Given the description of an element on the screen output the (x, y) to click on. 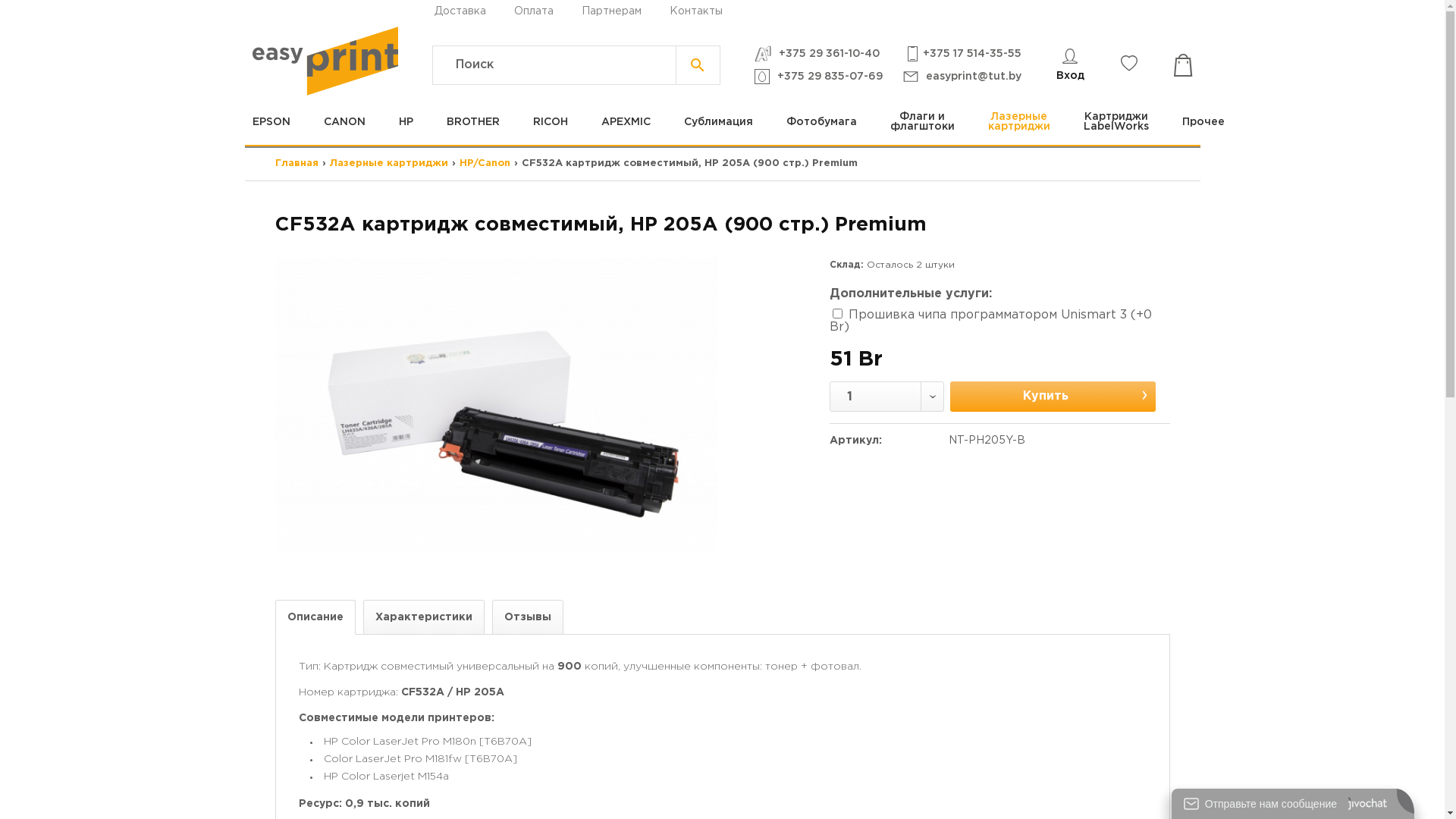
+375 17 514-35-55 Element type: text (963, 53)
CANON Element type: text (343, 121)
EPSON Element type: text (278, 121)
+375 29 361-10-40 Element type: text (816, 53)
easyprint@tut.by Element type: text (962, 76)
RICOH Element type: text (549, 121)
HP/Canon Element type: text (484, 163)
HP Element type: text (405, 121)
BROTHER Element type: text (472, 121)
+375 29 835-07-69 Element type: text (818, 76)
APEXMIC Element type: text (624, 121)
